Given the description of an element on the screen output the (x, y) to click on. 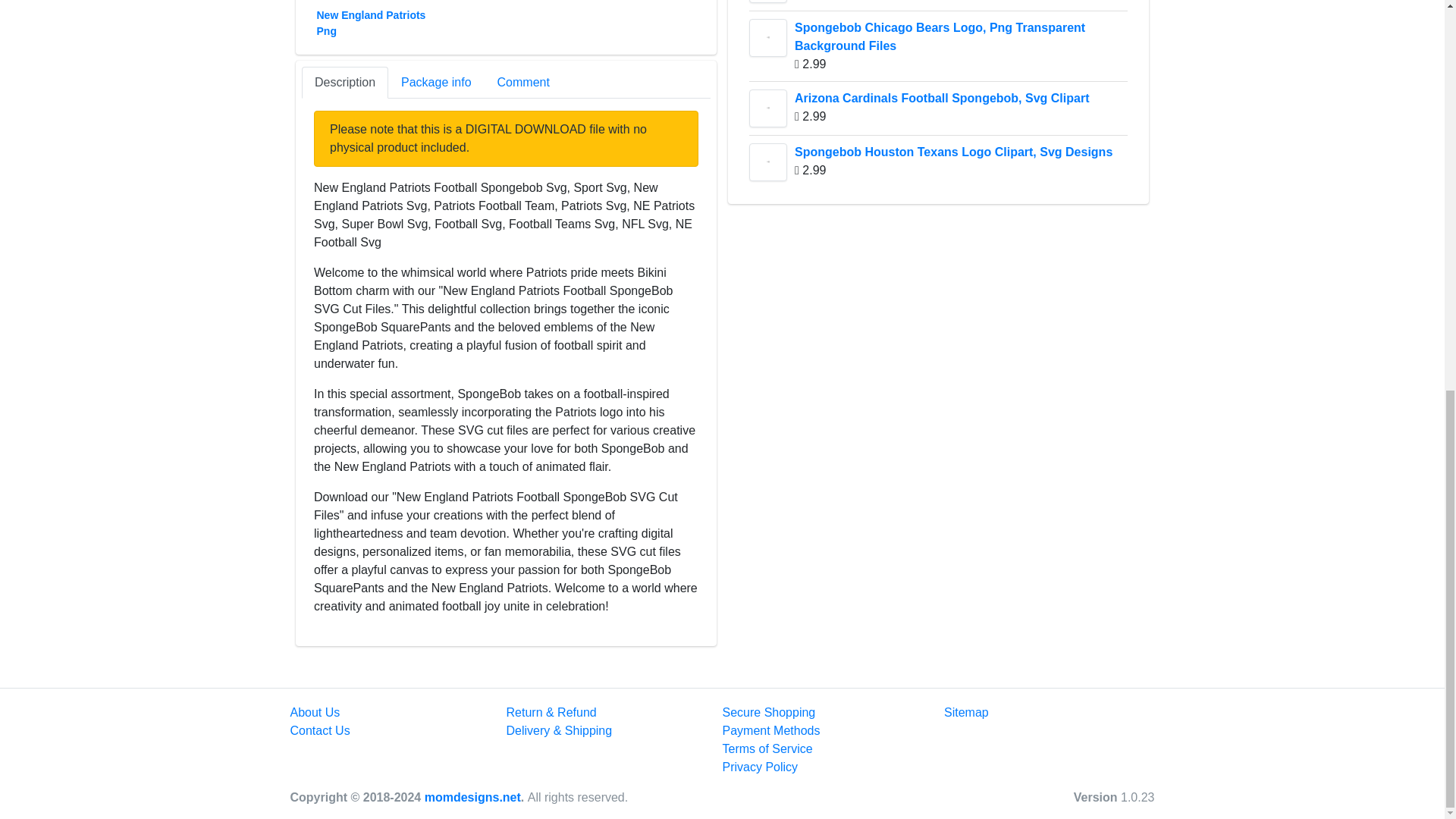
Spongebob Houston Texans Logo Clipart, Svg Designs (768, 161)
Indianapolis Colts Football Spongebob, Svg Designs (768, 1)
Arizona Cardinals Football Spongebob, Svg Clipart (768, 108)
